Given the description of an element on the screen output the (x, y) to click on. 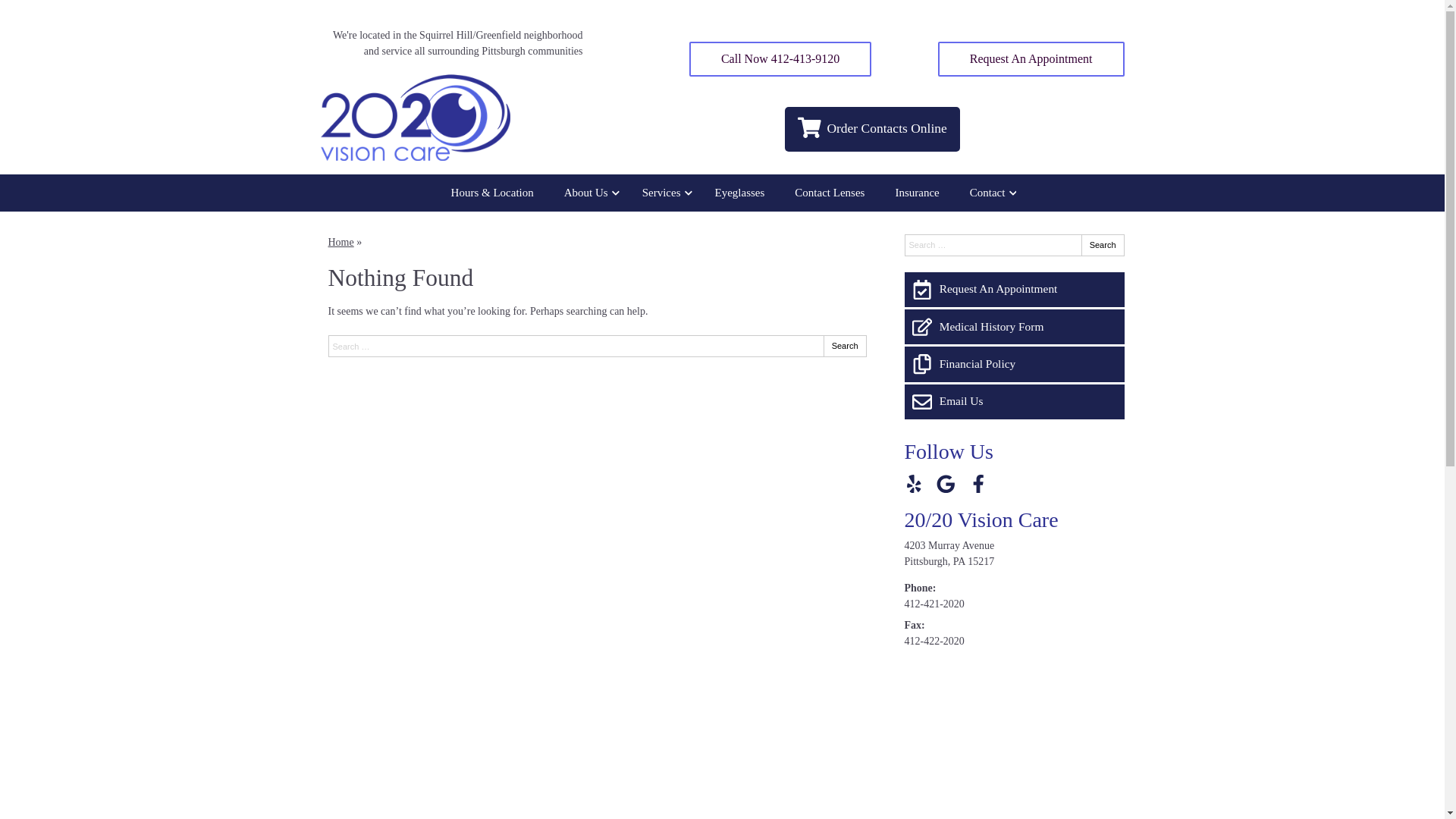
20/20 Vision Care Element type: text (980, 519)
Search Element type: text (1102, 245)
Contact Lenses Element type: text (829, 192)
412-421-2020 Element type: text (933, 603)
Insurance Element type: text (916, 192)
Eyeglasses Element type: text (739, 192)
Order Contacts Online Element type: text (872, 128)
Hours & Location Element type: text (492, 192)
About Us Element type: text (588, 192)
Services Element type: text (663, 192)
Medical History Form Element type: text (1013, 326)
Call Now 412-413-9120 Element type: text (780, 58)
Email Us Element type: text (1013, 401)
Home Element type: text (340, 241)
Financial Policy Element type: text (1013, 363)
Request An Appointment Element type: text (1031, 58)
Request An Appointment Element type: text (1013, 289)
Contact Element type: text (989, 192)
Search Element type: text (844, 346)
